Given the description of an element on the screen output the (x, y) to click on. 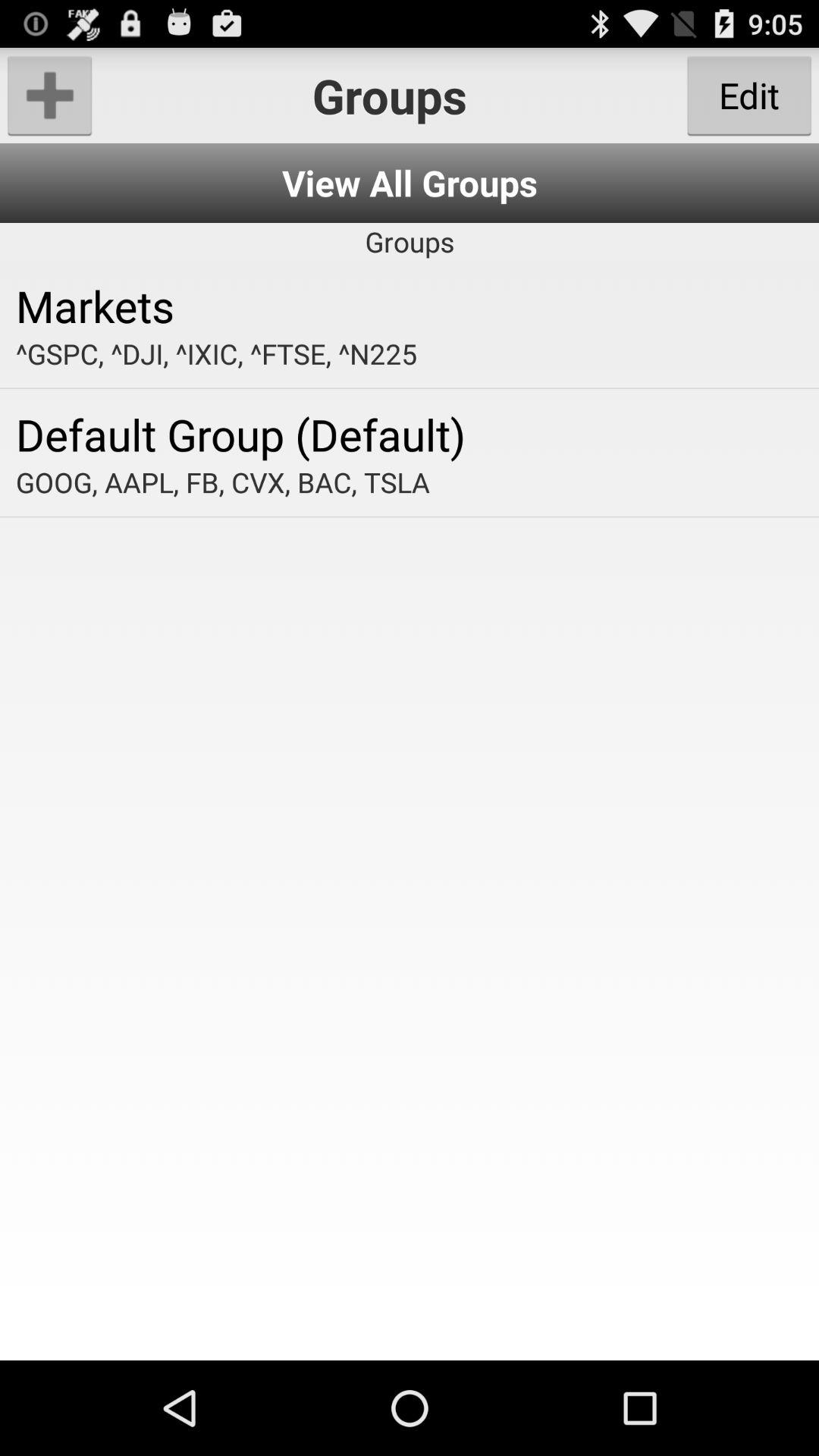
tap the default group (default) app (409, 433)
